Given the description of an element on the screen output the (x, y) to click on. 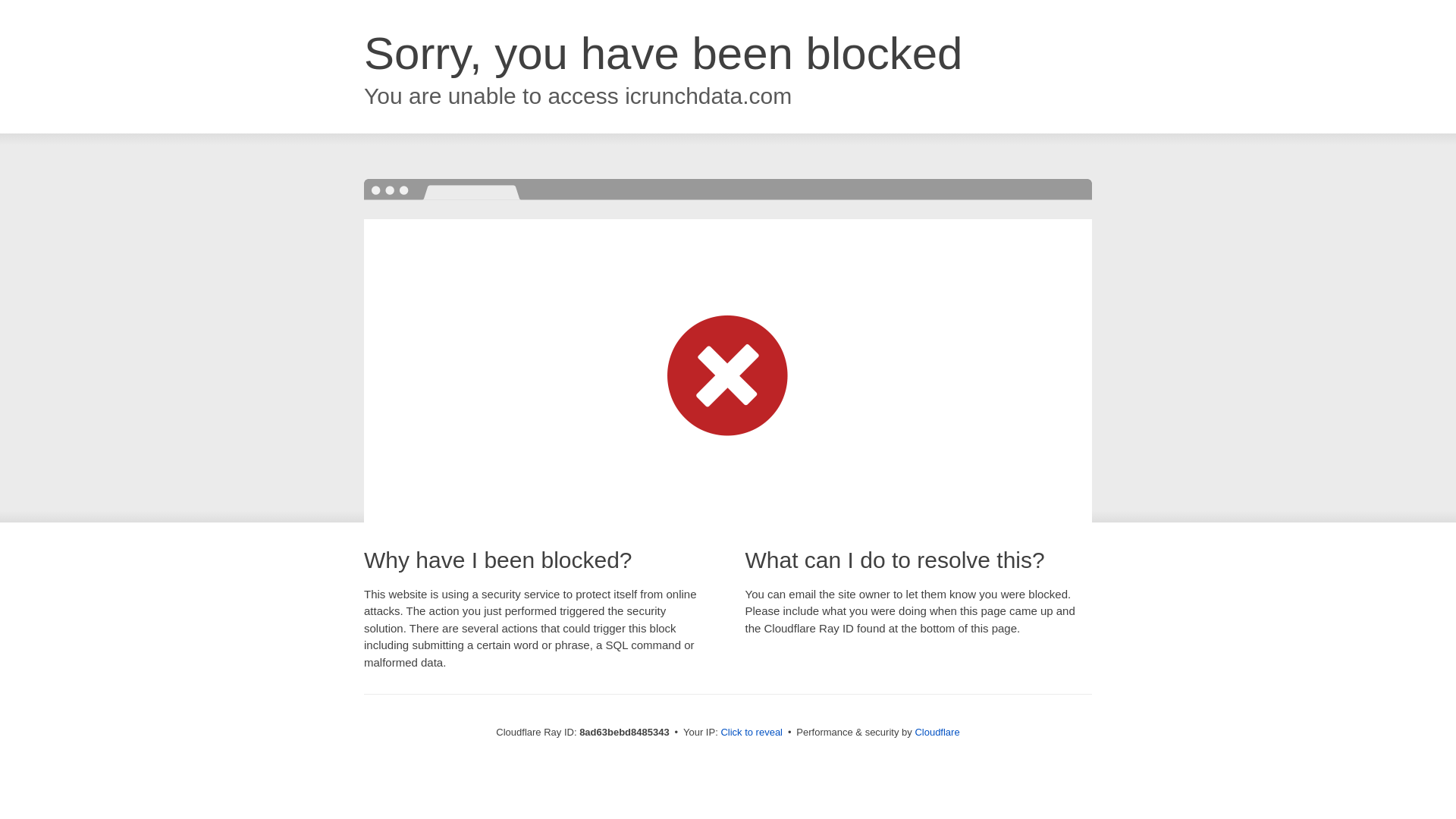
Cloudflare (936, 731)
Click to reveal (751, 732)
